Given the description of an element on the screen output the (x, y) to click on. 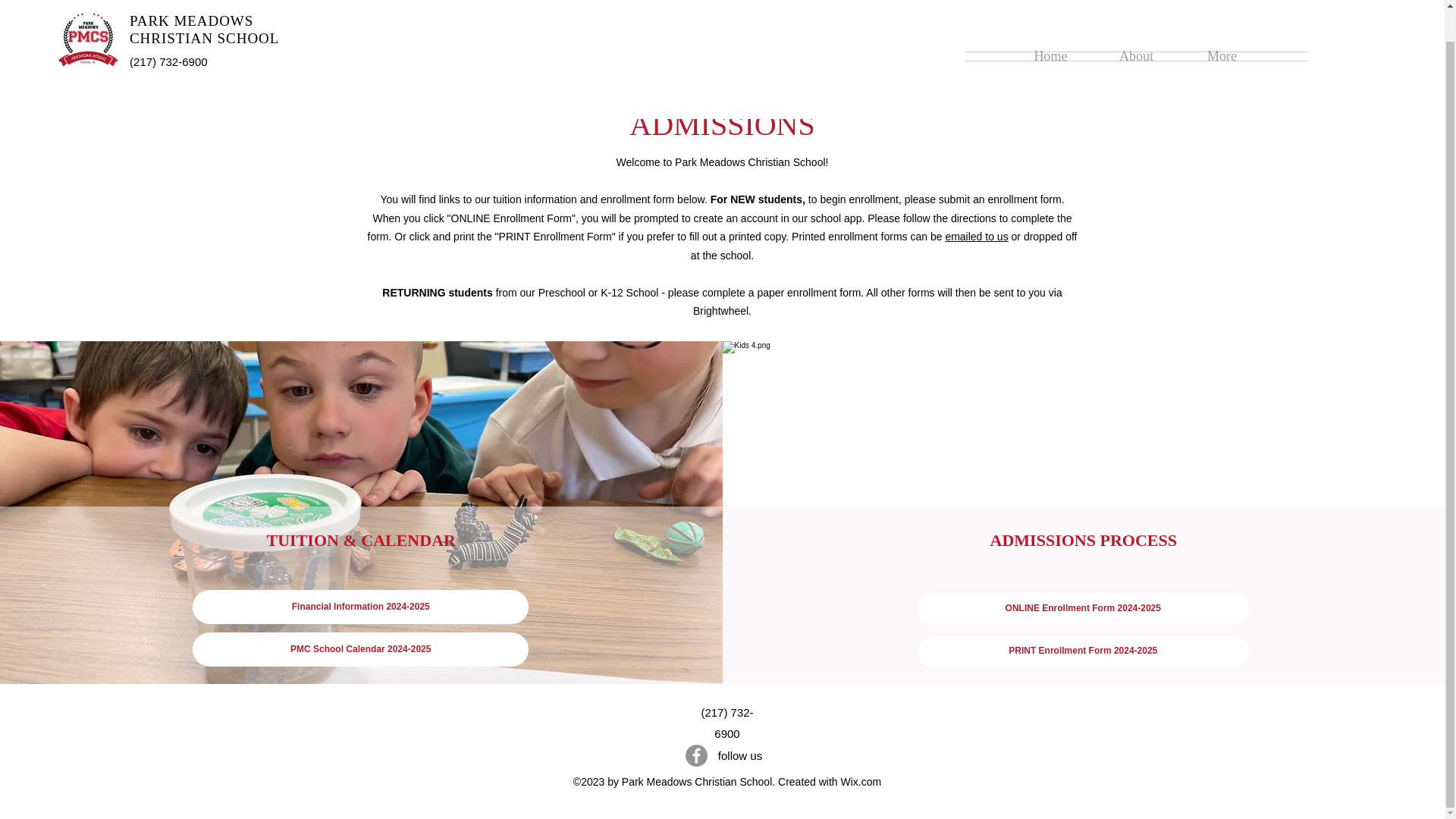
emailed to us (975, 236)
About (1136, 23)
CHRISTIAN SCHOOL (204, 6)
Home (1050, 23)
Financial Information 2024-2025 (360, 606)
PMC School Calendar 2024-2025 (360, 649)
PRINT Enrollment Form 2024-2025 (1083, 651)
ONLINE Enrollment Form 2024-2025 (1083, 608)
